Given the description of an element on the screen output the (x, y) to click on. 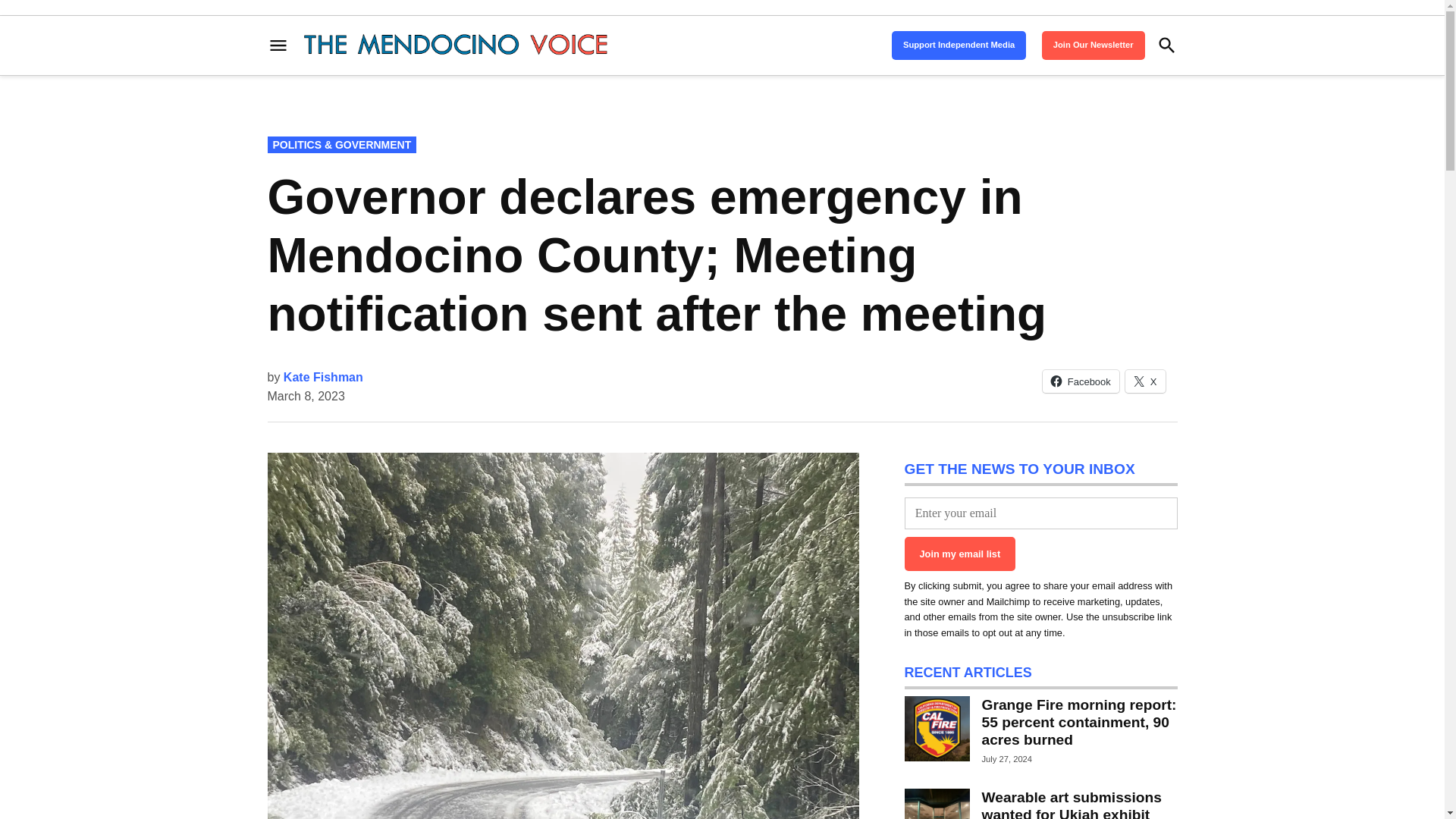
Click to share on Facebook (1080, 381)
Click to share on X (1145, 381)
Enter your email (1040, 513)
